Given the description of an element on the screen output the (x, y) to click on. 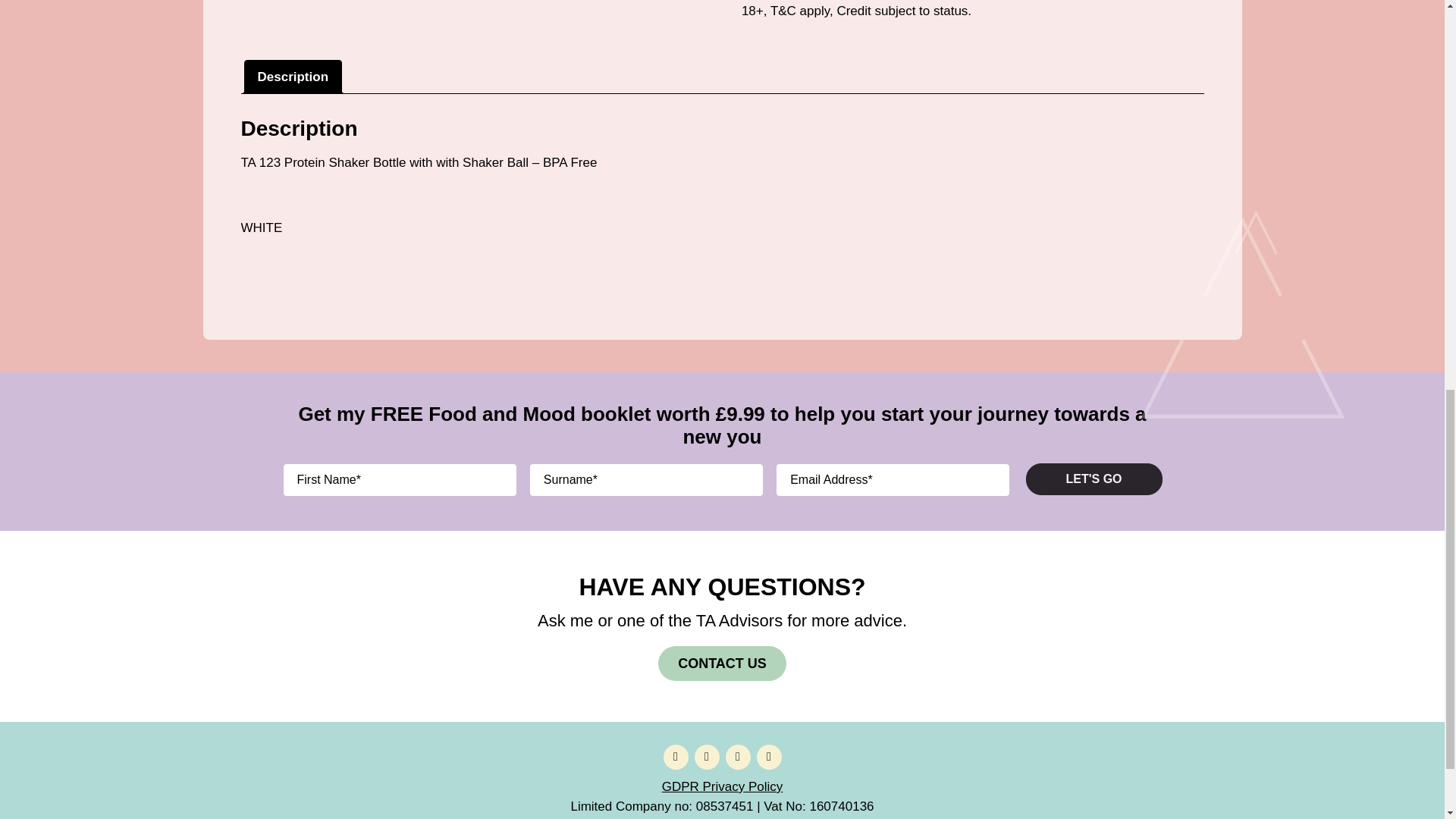
Let's Go (1093, 479)
Let's Go (1093, 479)
Description (293, 76)
CONTACT US (722, 663)
